Given the description of an element on the screen output the (x, y) to click on. 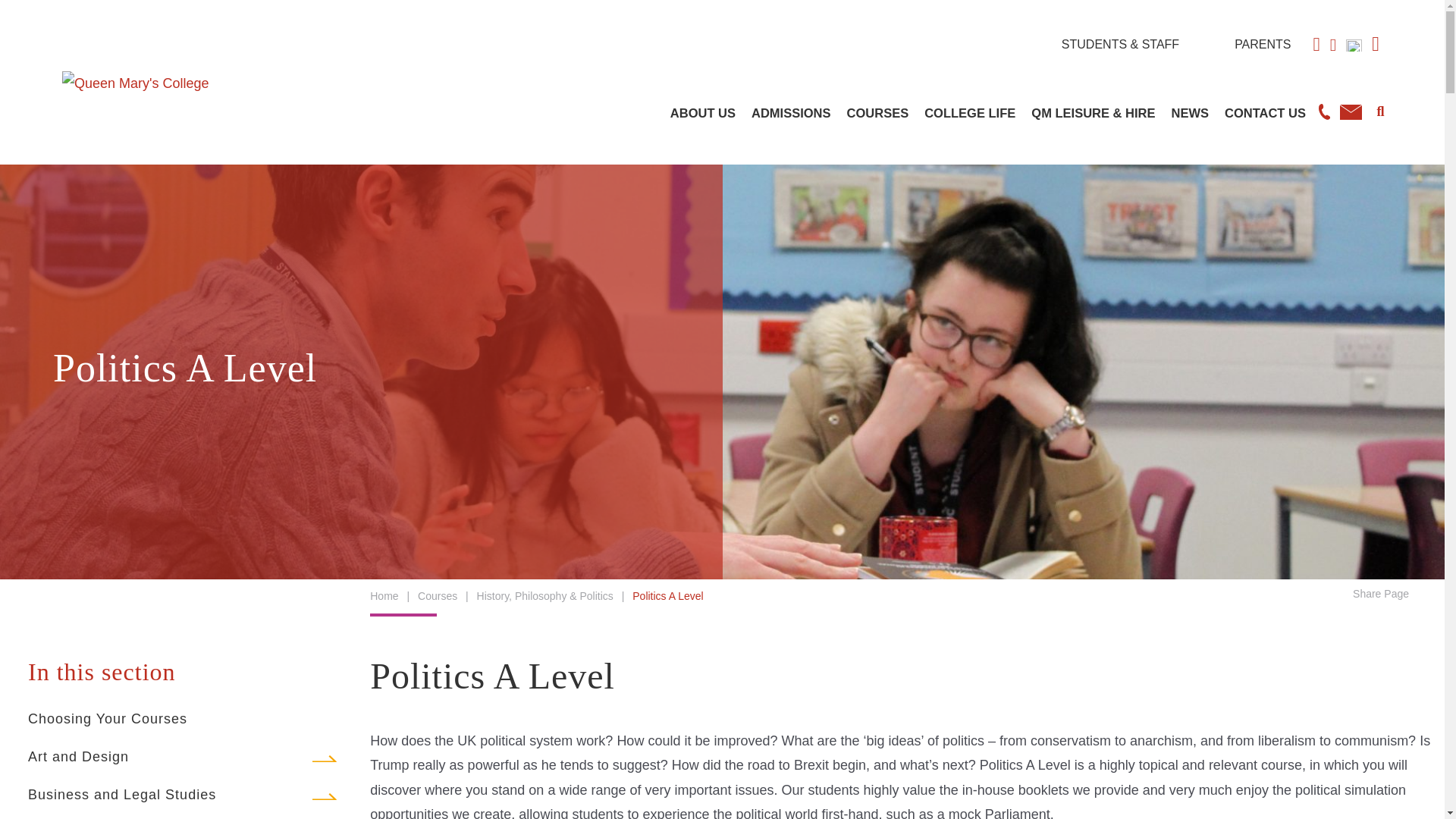
COURSES (877, 112)
Search (1380, 109)
Go to Queen Mary's College. (383, 595)
ABOUT US (702, 112)
PARENTS (1262, 44)
Go to Courses. (437, 595)
ADMISSIONS (791, 112)
